Given the description of an element on the screen output the (x, y) to click on. 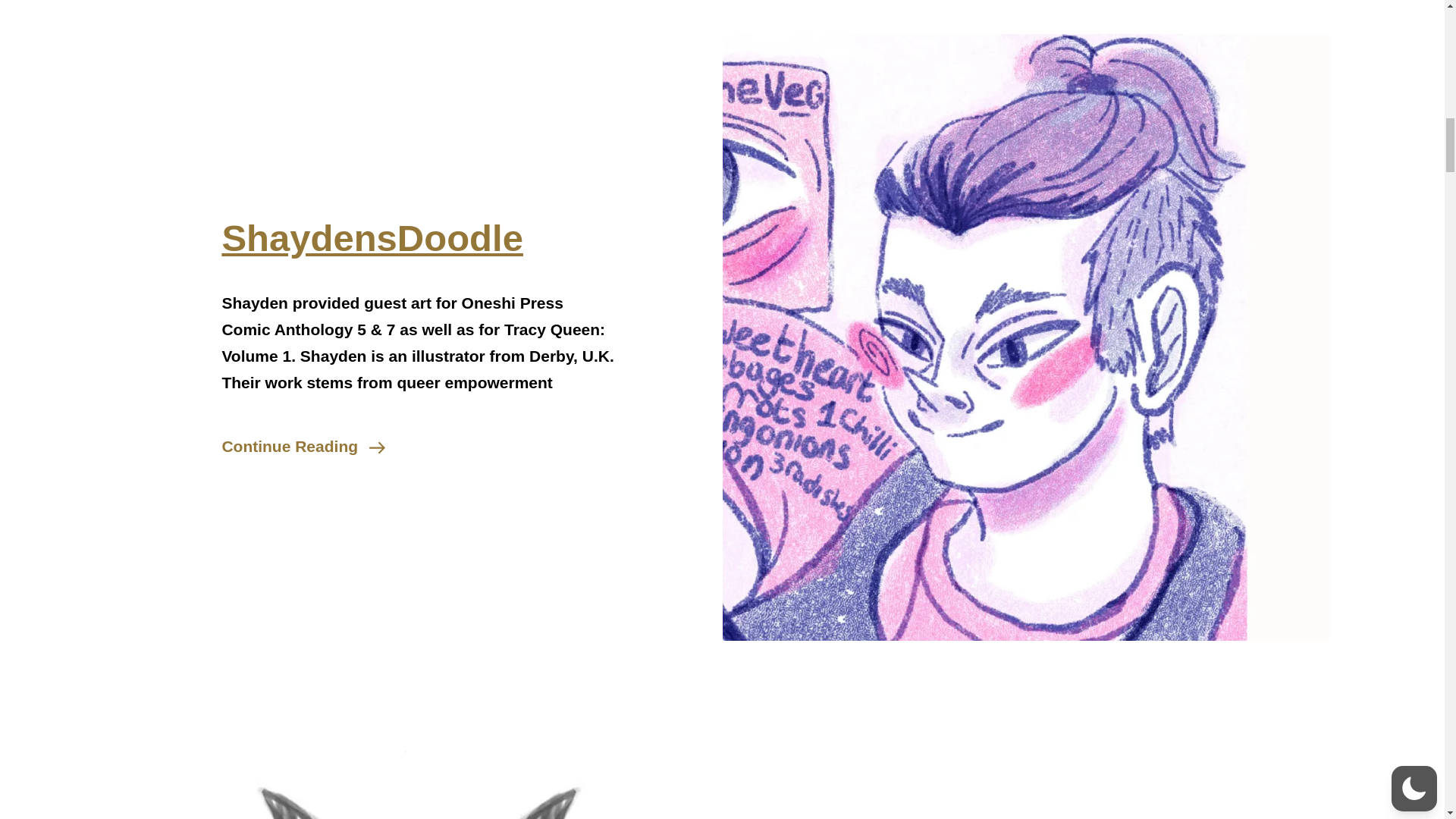
ShaydensDoodle (303, 446)
Renamey (371, 237)
